Given the description of an element on the screen output the (x, y) to click on. 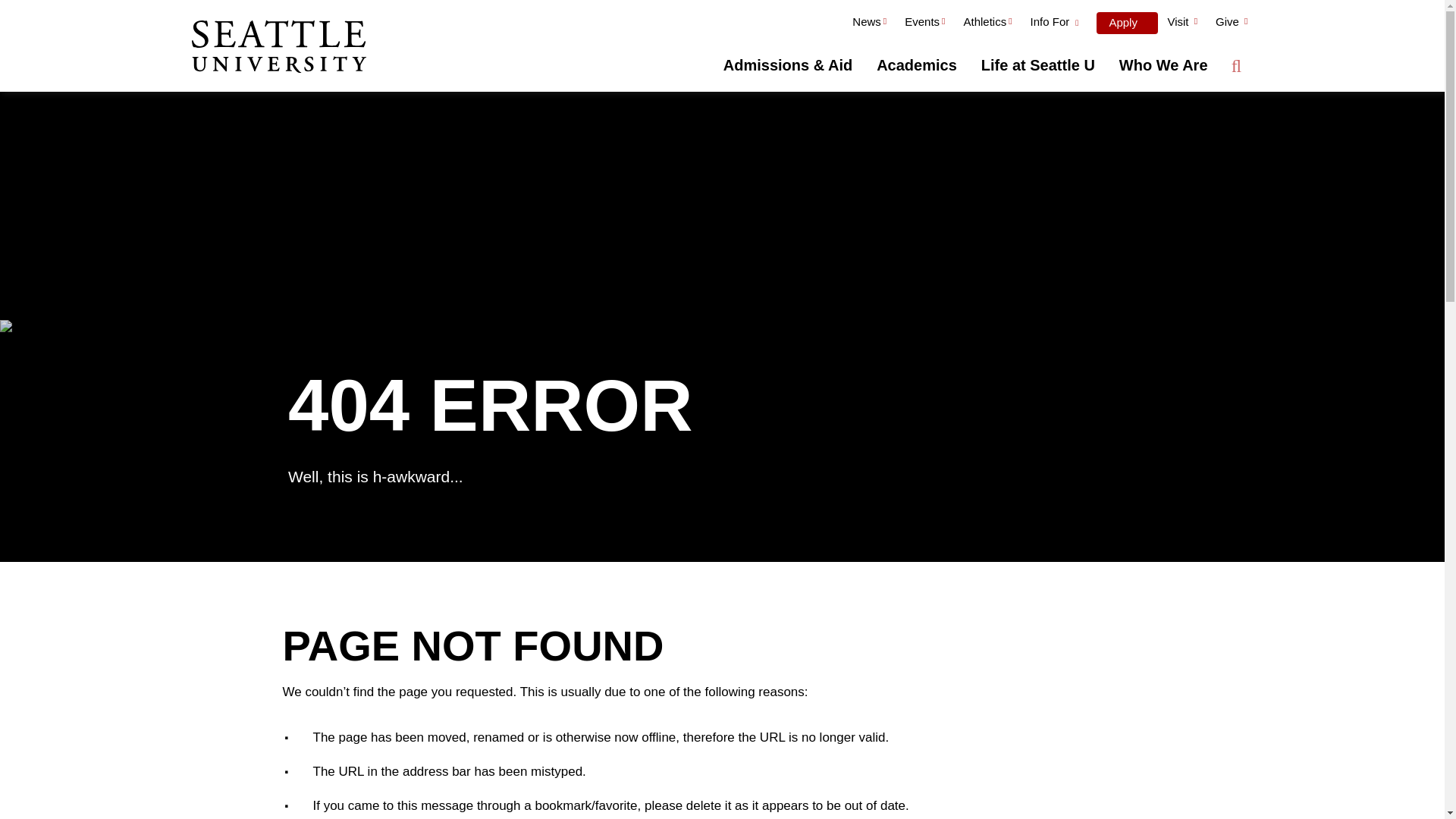
Apply (1126, 23)
Click to visit the home page (277, 47)
Life at Seattle U (1037, 65)
Events (924, 23)
Academics (916, 65)
News (869, 23)
Visit (1182, 23)
Athletics (986, 23)
Give (1231, 23)
